Given the description of an element on the screen output the (x, y) to click on. 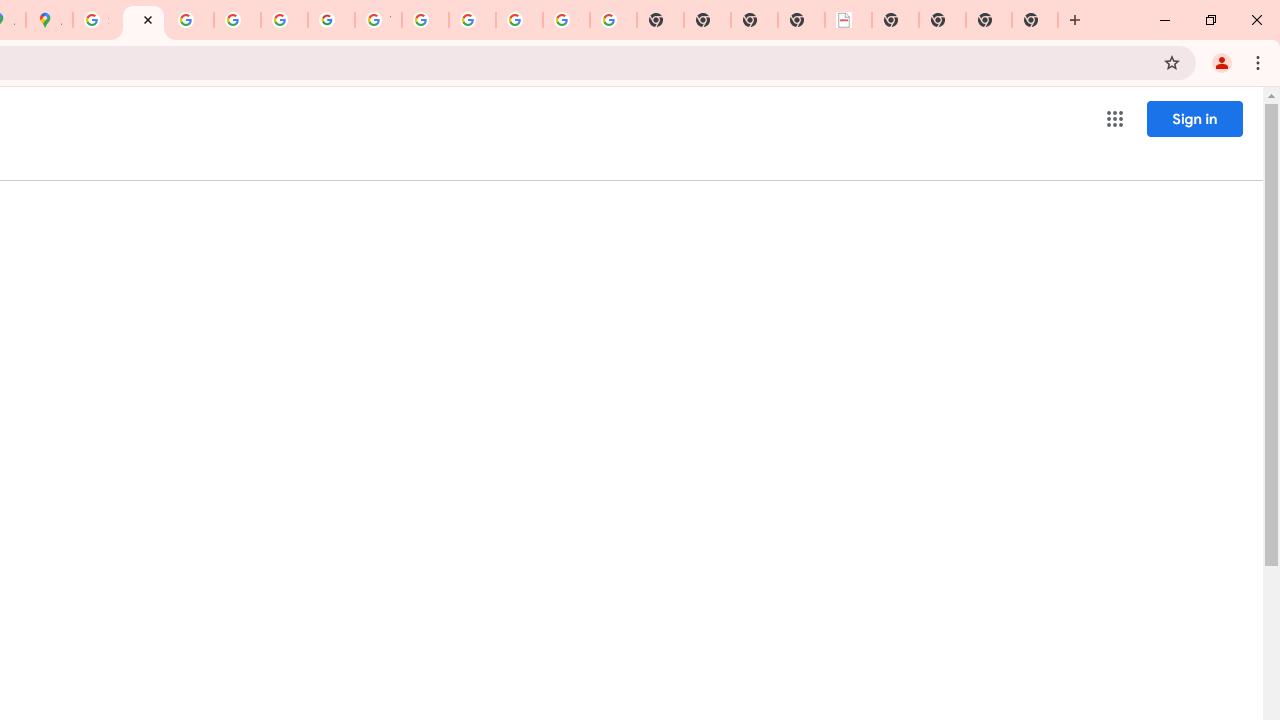
Privacy Help Center - Policies Help (189, 20)
LAAD Defence & Security 2025 | BAE Systems (848, 20)
Sign in - Google Accounts (96, 20)
